Given the description of an element on the screen output the (x, y) to click on. 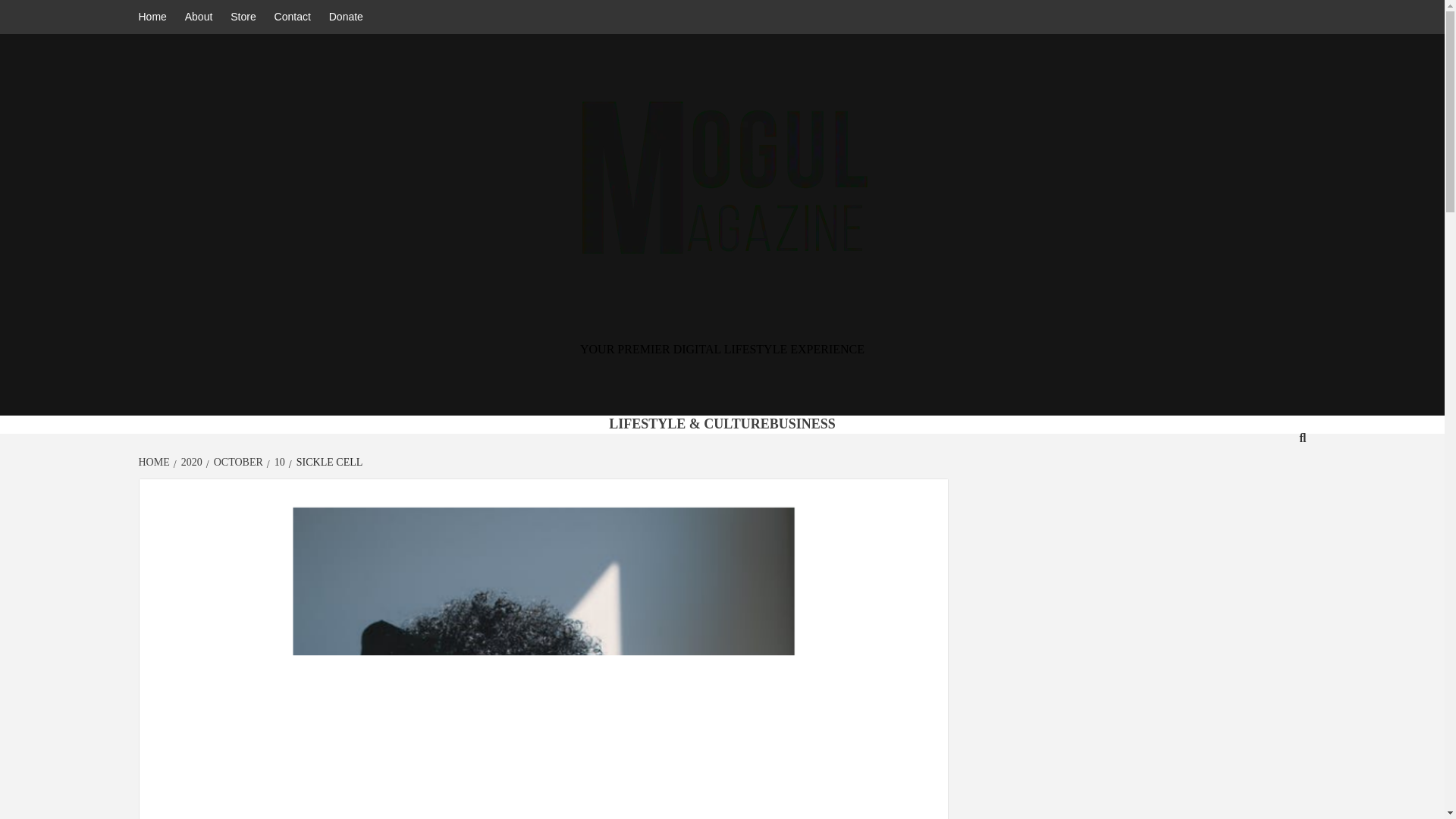
OCTOBER (236, 461)
Contact (292, 17)
Home (155, 17)
BUSINESS (802, 423)
10 (277, 461)
About (199, 17)
2020 (189, 461)
HOME (155, 461)
Store (242, 17)
Donate (346, 17)
